Given the description of an element on the screen output the (x, y) to click on. 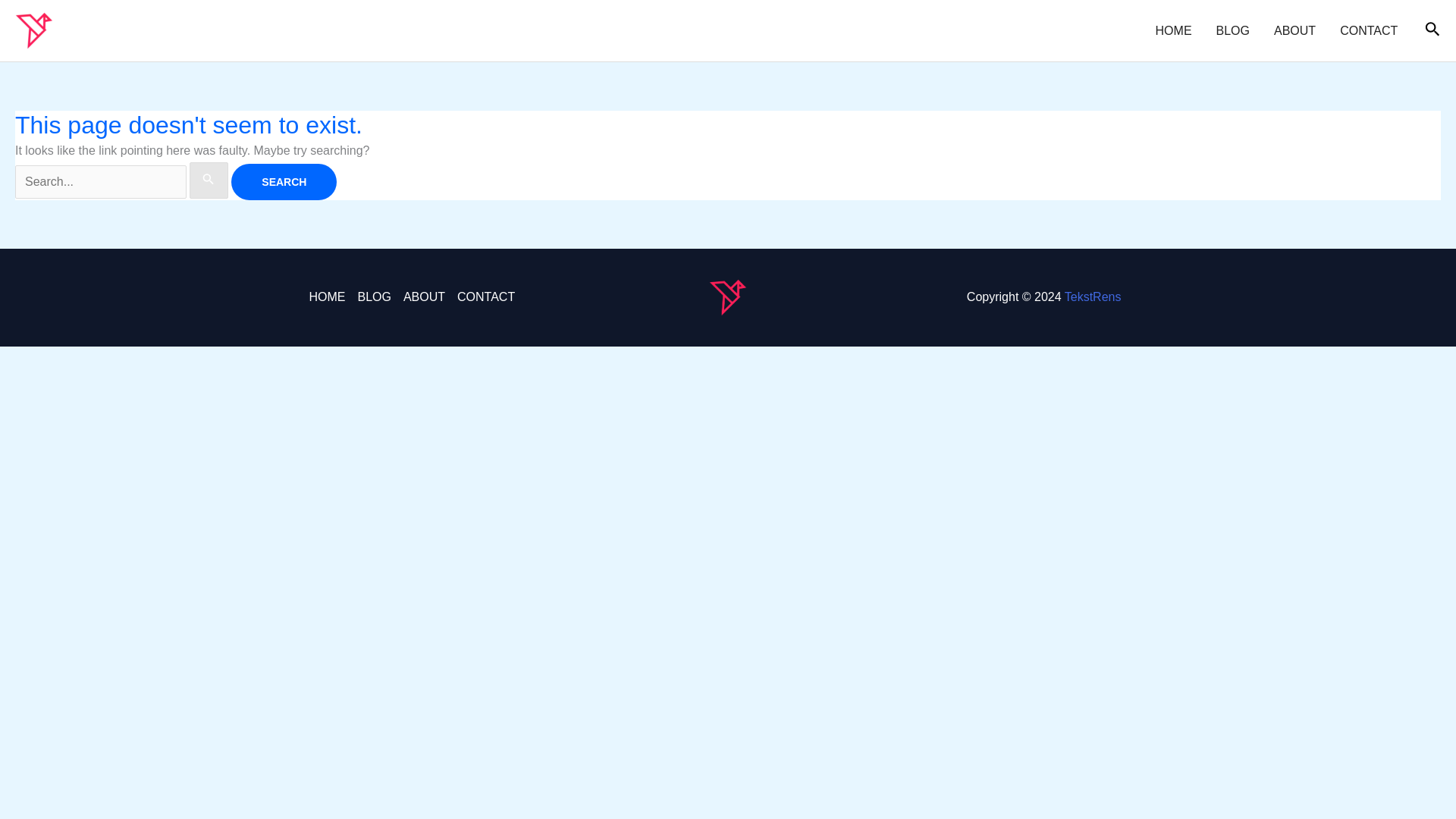
Search (283, 181)
TekstRens (1092, 296)
CONTACT (1368, 30)
Search (283, 181)
HOME (329, 296)
Search (283, 181)
HOME (1173, 30)
CONTACT (483, 296)
ABOUT (424, 296)
BLOG (373, 296)
